Given the description of an element on the screen output the (x, y) to click on. 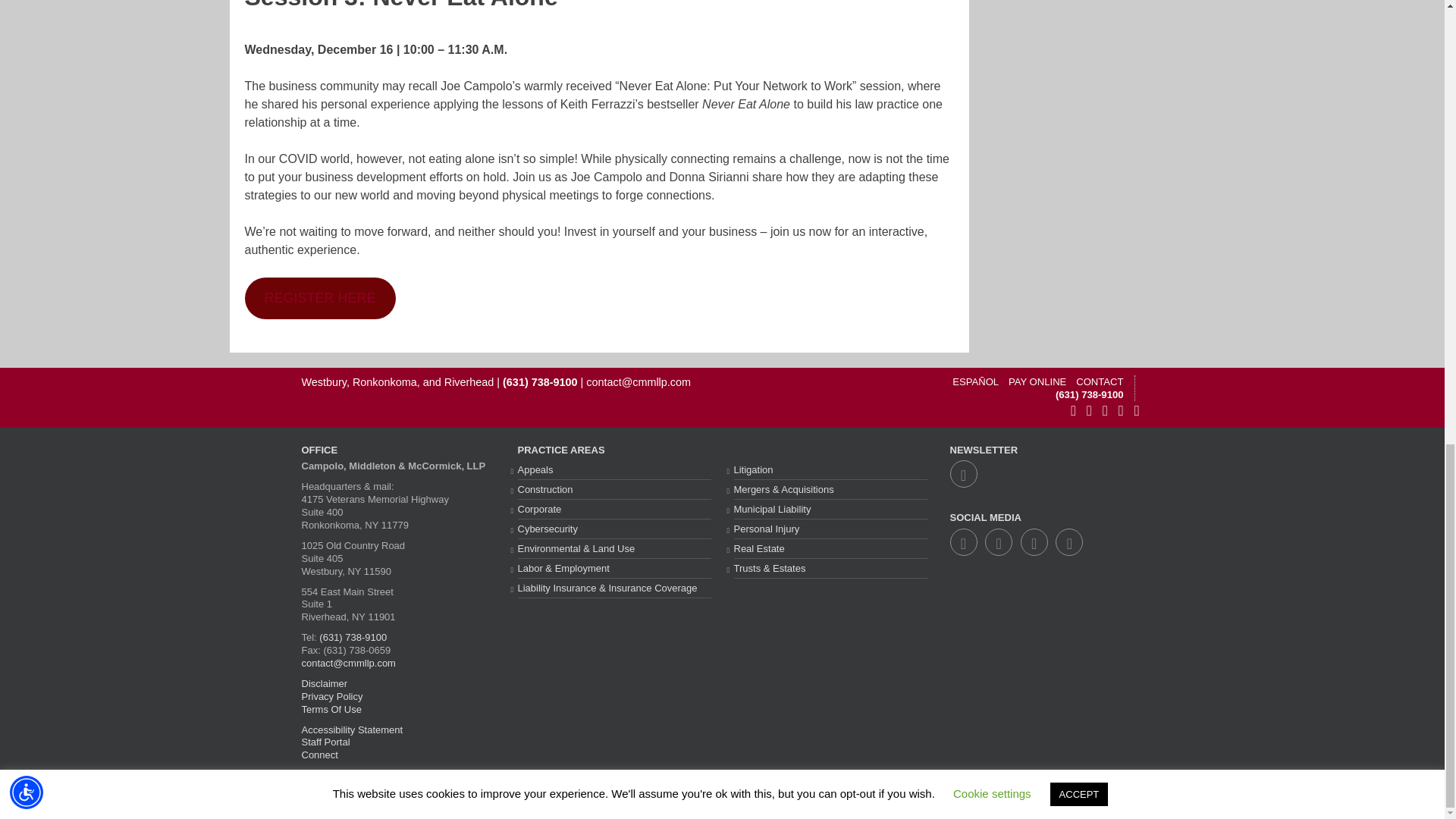
Newsletter (963, 475)
Newsletter (1072, 411)
Facebook (1089, 411)
Linkedin (1137, 411)
Twitter (1105, 411)
Youtube (1121, 411)
Twitter (998, 543)
Facebook (963, 543)
